Given the description of an element on the screen output the (x, y) to click on. 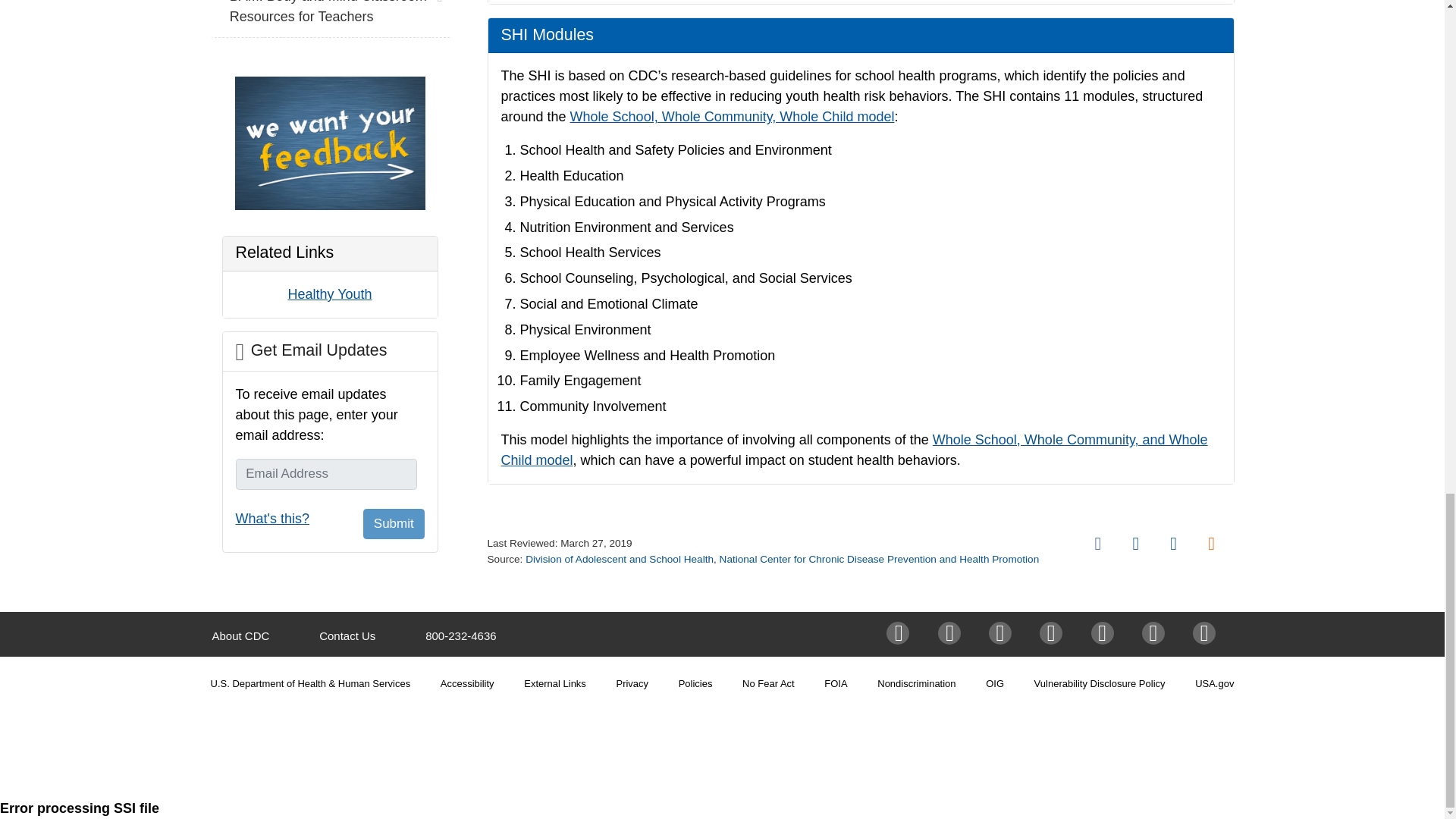
we want your feedback (329, 142)
Email Address (325, 473)
